Given the description of an element on the screen output the (x, y) to click on. 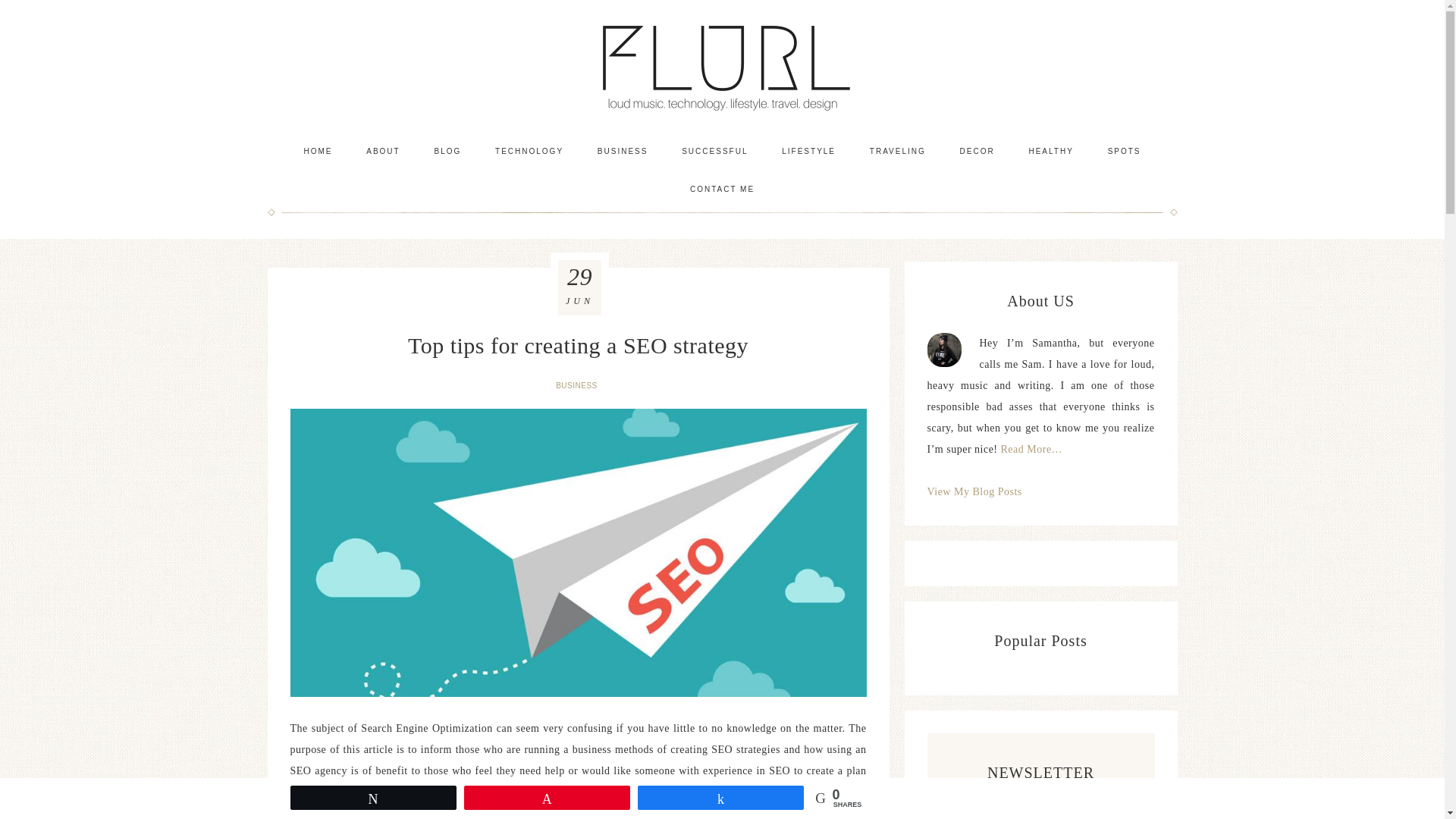
SUCCESSFUL (714, 151)
FLURL (722, 65)
BLOG (447, 151)
LIFESTYLE (808, 151)
View My Blog Posts (974, 491)
TECHNOLOGY (529, 151)
DECOR (977, 151)
ABOUT (382, 151)
SPOTS (1124, 151)
TRAVELING (897, 151)
HEALTHY (1050, 151)
BUSINESS (622, 151)
CONTACT ME (722, 189)
HOME (317, 151)
BUSINESS (578, 385)
